Given the description of an element on the screen output the (x, y) to click on. 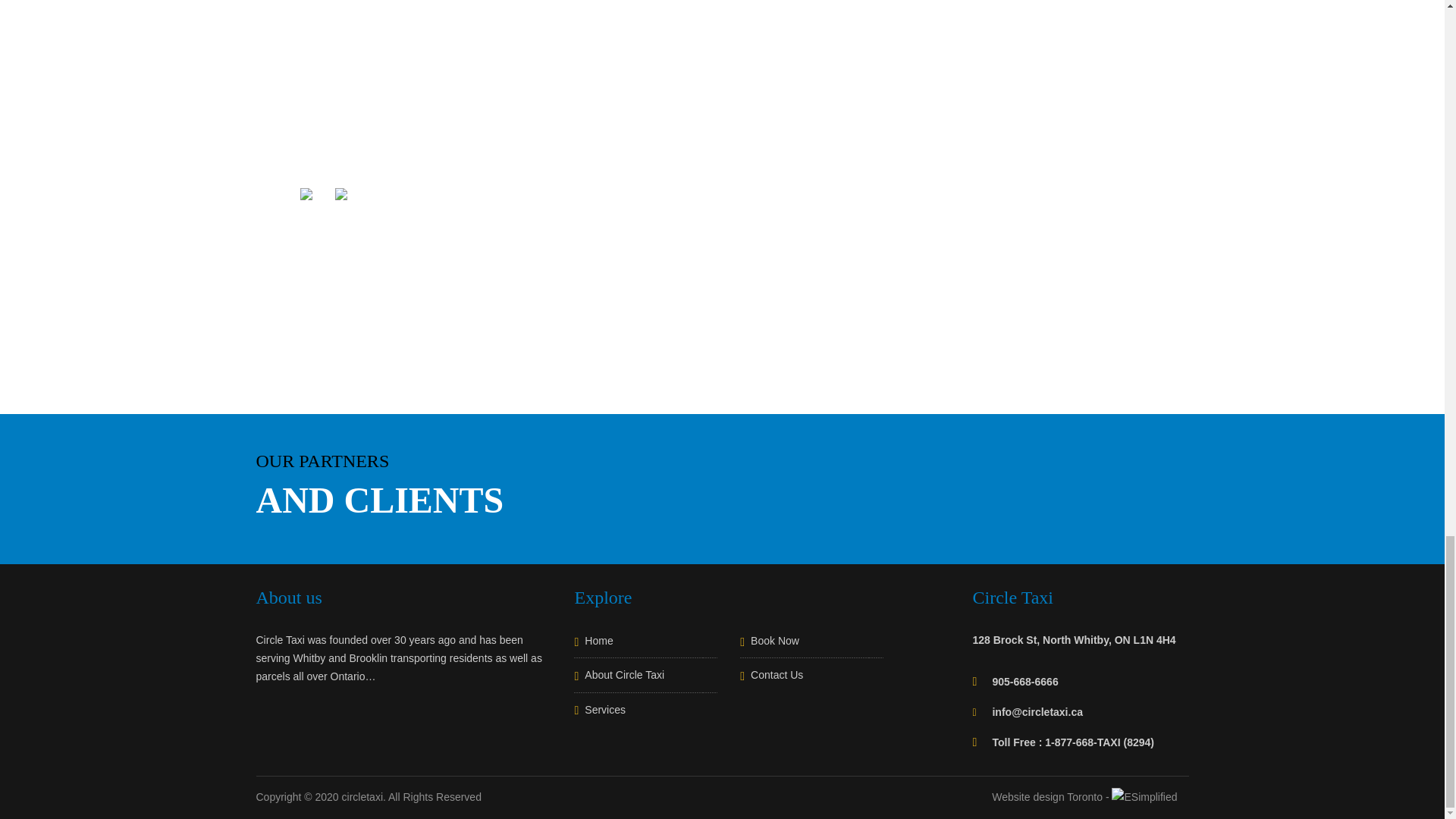
Book Now (811, 644)
About Circle Taxi (645, 678)
Website design Toronto - (1089, 797)
905-668-6666 (1024, 681)
Contact Us (811, 678)
Services (645, 714)
Home (645, 644)
